Given the description of an element on the screen output the (x, y) to click on. 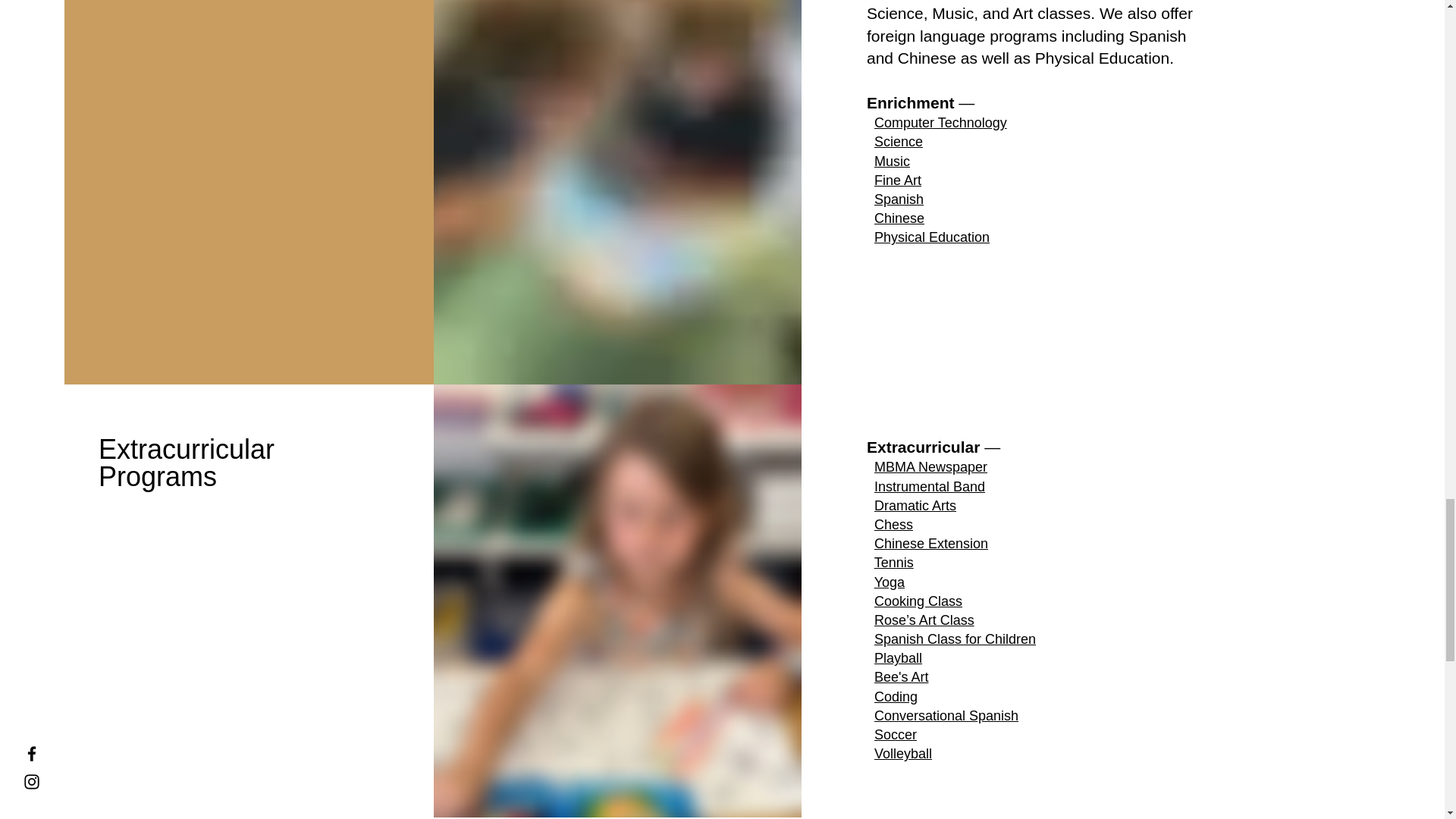
Chinese (899, 218)
Computer Technology (941, 122)
Spanish (899, 199)
Science (899, 141)
Fine Art (898, 180)
Music (892, 160)
